Given the description of an element on the screen output the (x, y) to click on. 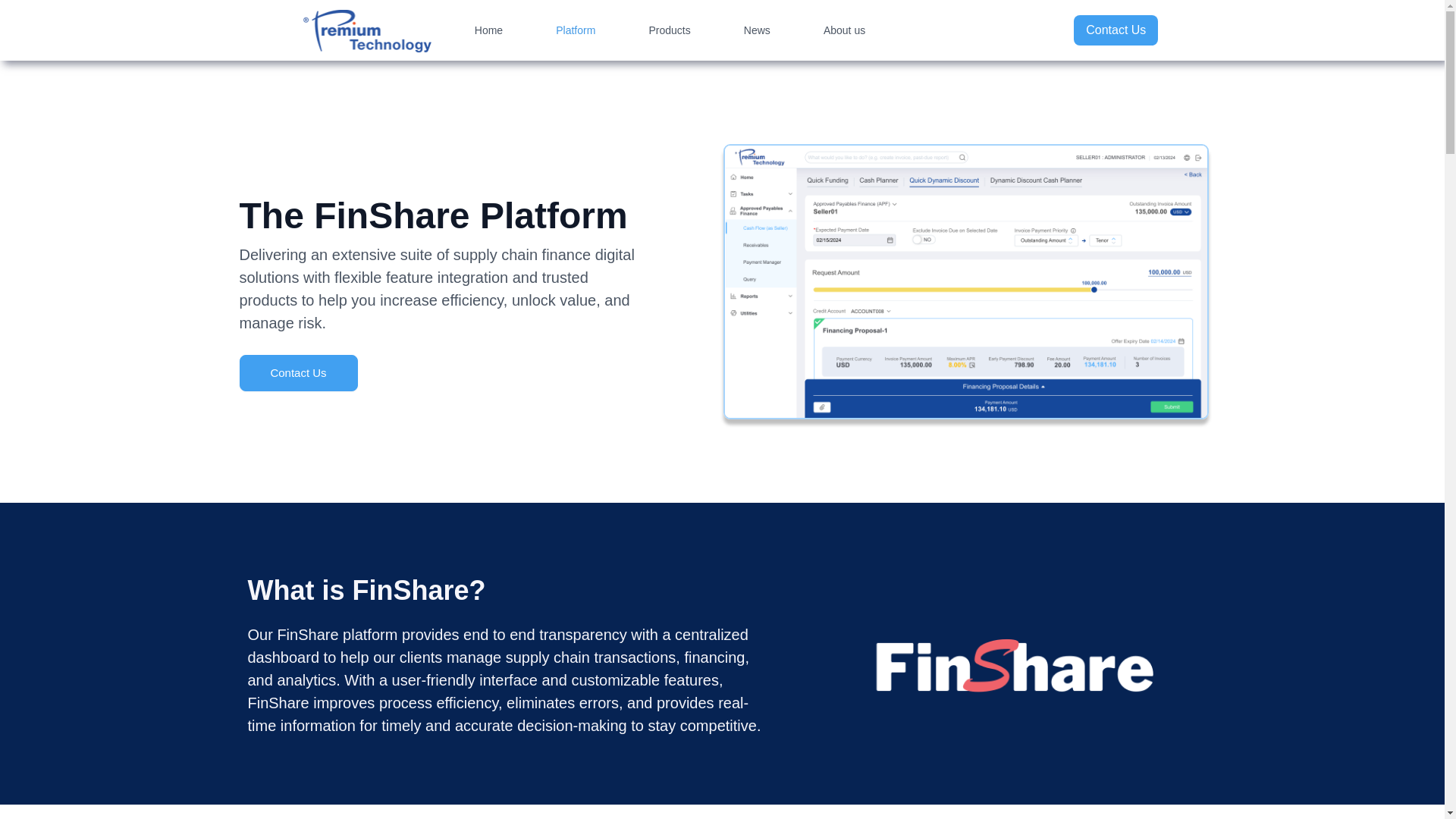
About us (843, 30)
Contact Us (1115, 30)
Products (668, 30)
Platform (575, 30)
Contact Us (299, 372)
News (757, 30)
Home (489, 30)
